Given the description of an element on the screen output the (x, y) to click on. 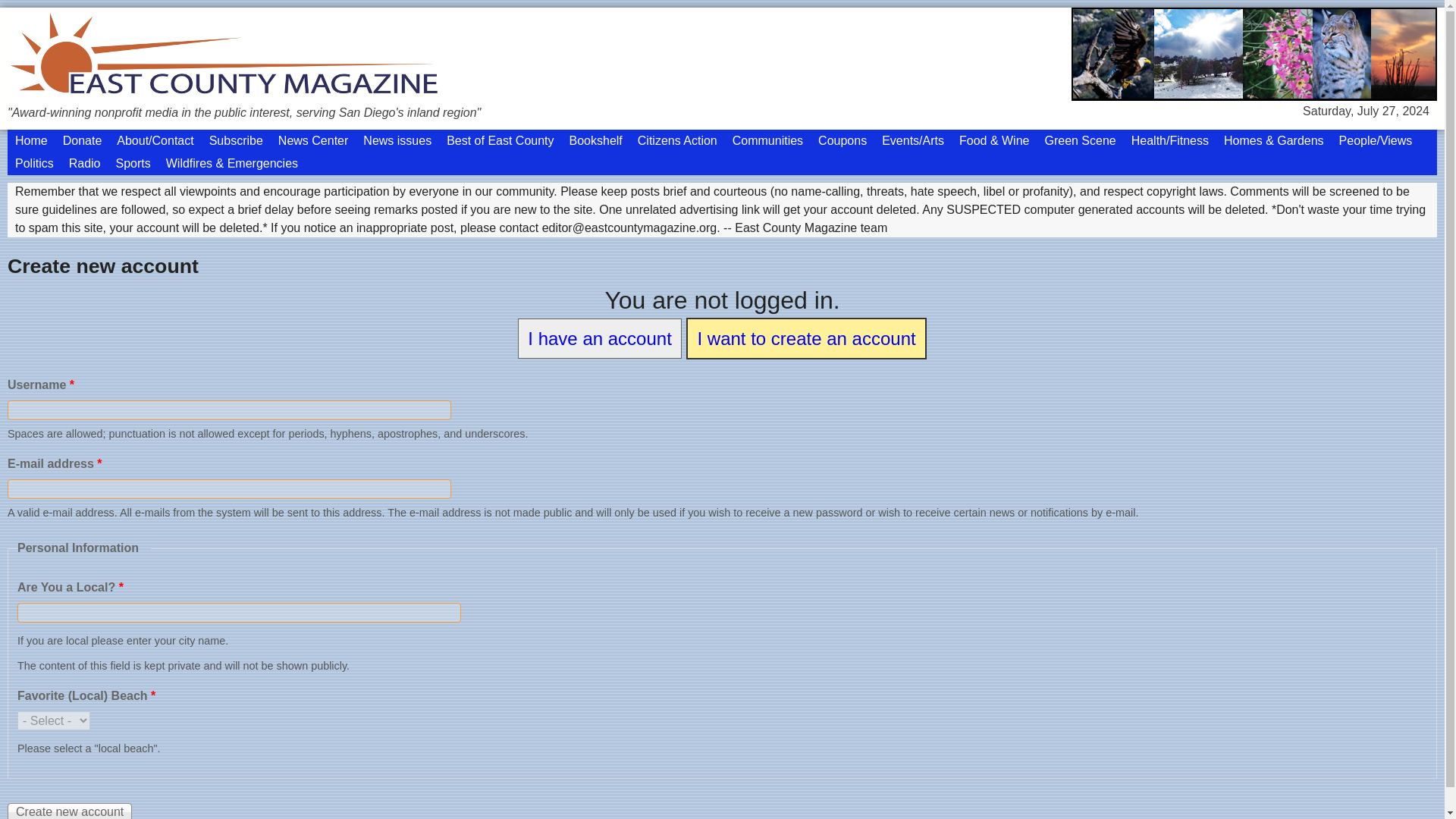
Create new account (69, 811)
Donate (82, 140)
Subscribe (236, 140)
Best of East County (499, 140)
News Center (312, 140)
Home (31, 140)
News issues (397, 140)
